Given the description of an element on the screen output the (x, y) to click on. 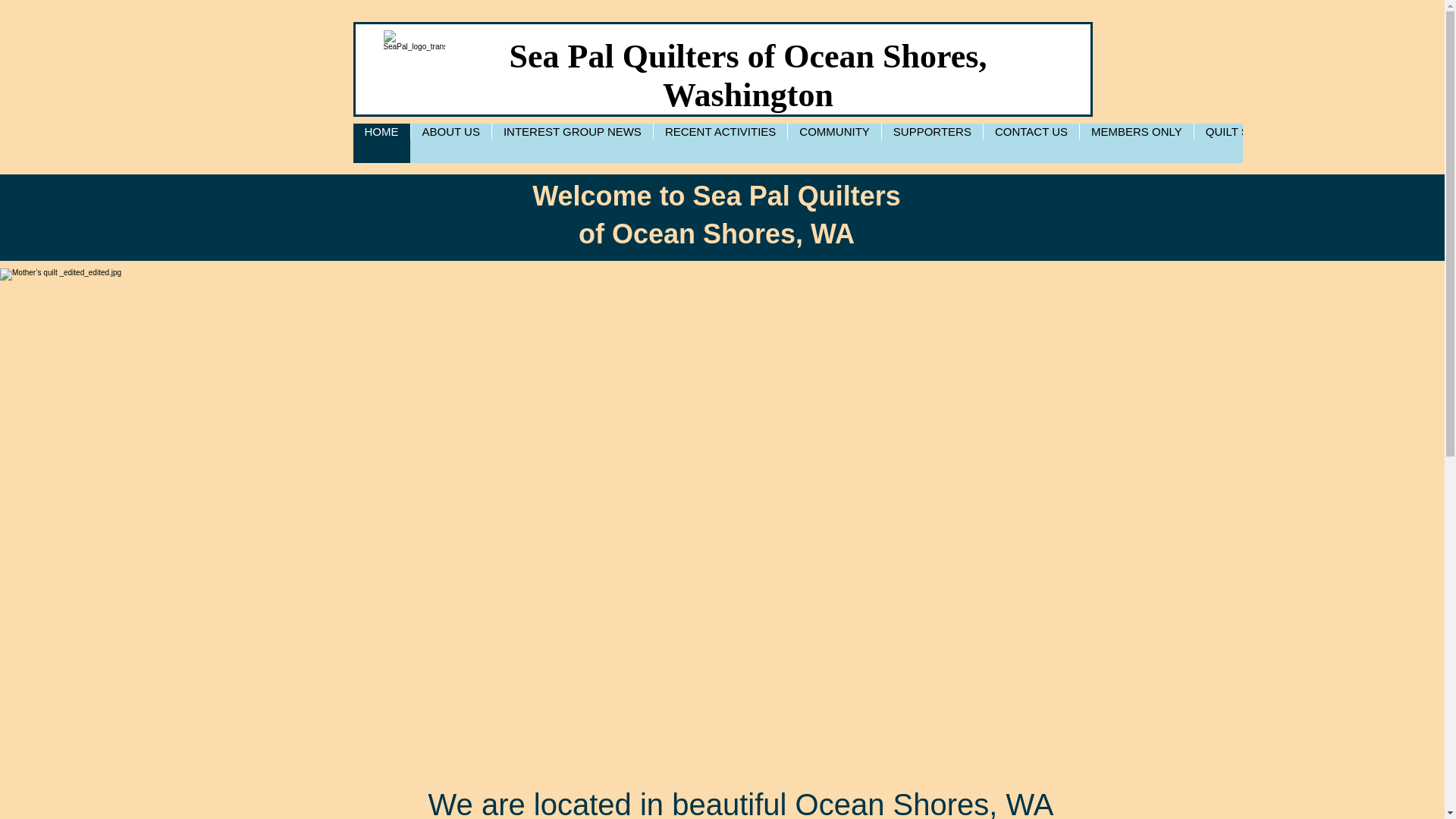
COMMUNITY (833, 142)
HOME (381, 142)
ABOUT US (449, 142)
RECENT ACTIVITIES (719, 142)
MEMBERS ONLY (1135, 142)
SUPPORTERS (931, 142)
QUILT SHOW (1240, 142)
INTEREST GROUP NEWS (572, 142)
CONTACT US (1030, 142)
